Given the description of an element on the screen output the (x, y) to click on. 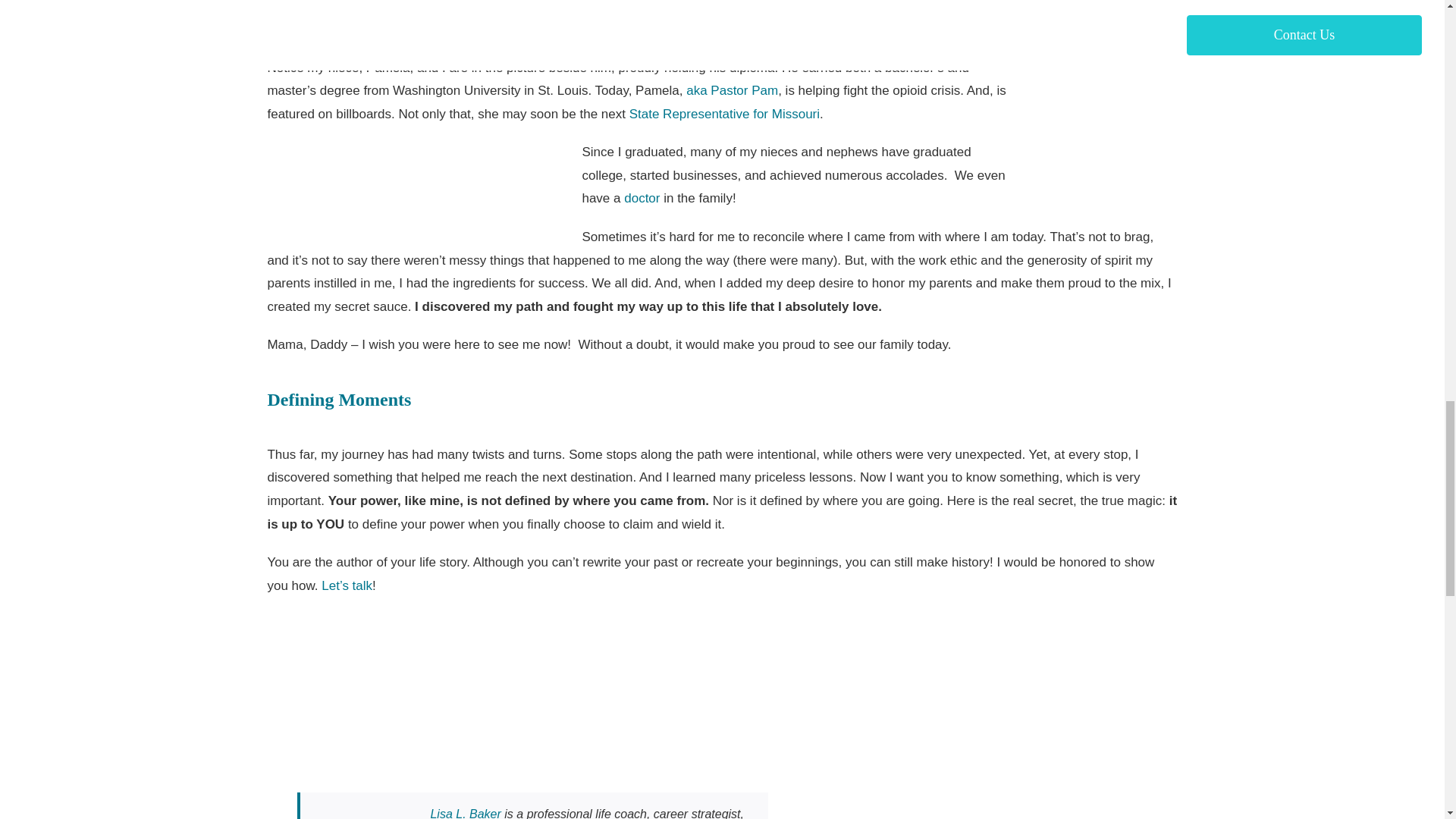
Lisa L. Baker (464, 813)
doctor (641, 197)
aka Pastor Pam (729, 90)
State Representative for Missouri (723, 114)
